Given the description of an element on the screen output the (x, y) to click on. 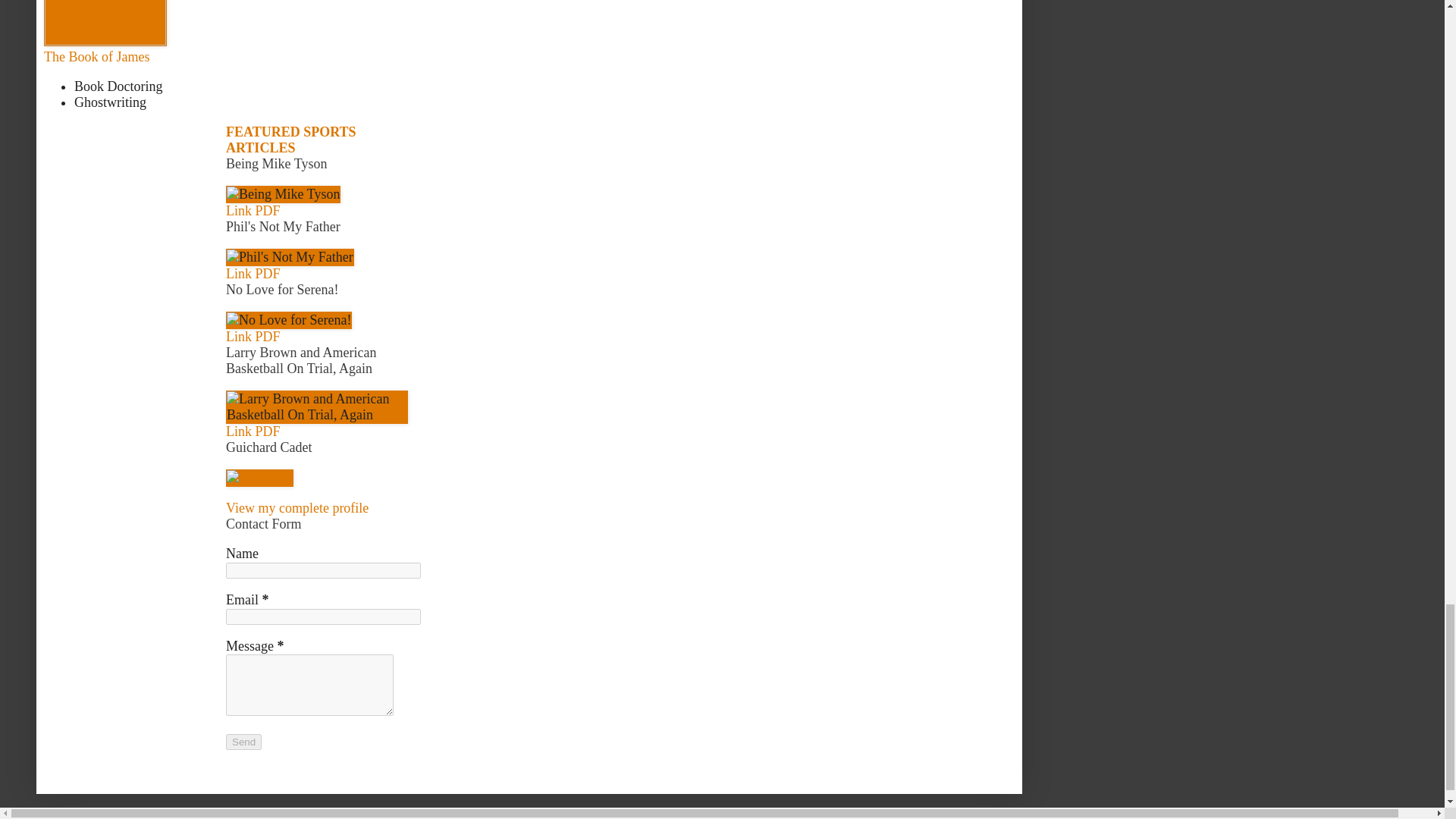
Link (238, 336)
PDF (266, 210)
Send (243, 741)
Link (238, 273)
Link (238, 210)
FEATURED SPORTS ARTICLES (290, 139)
PDF (266, 431)
PDF (266, 273)
Link (238, 431)
The Book of James (96, 56)
